Given the description of an element on the screen output the (x, y) to click on. 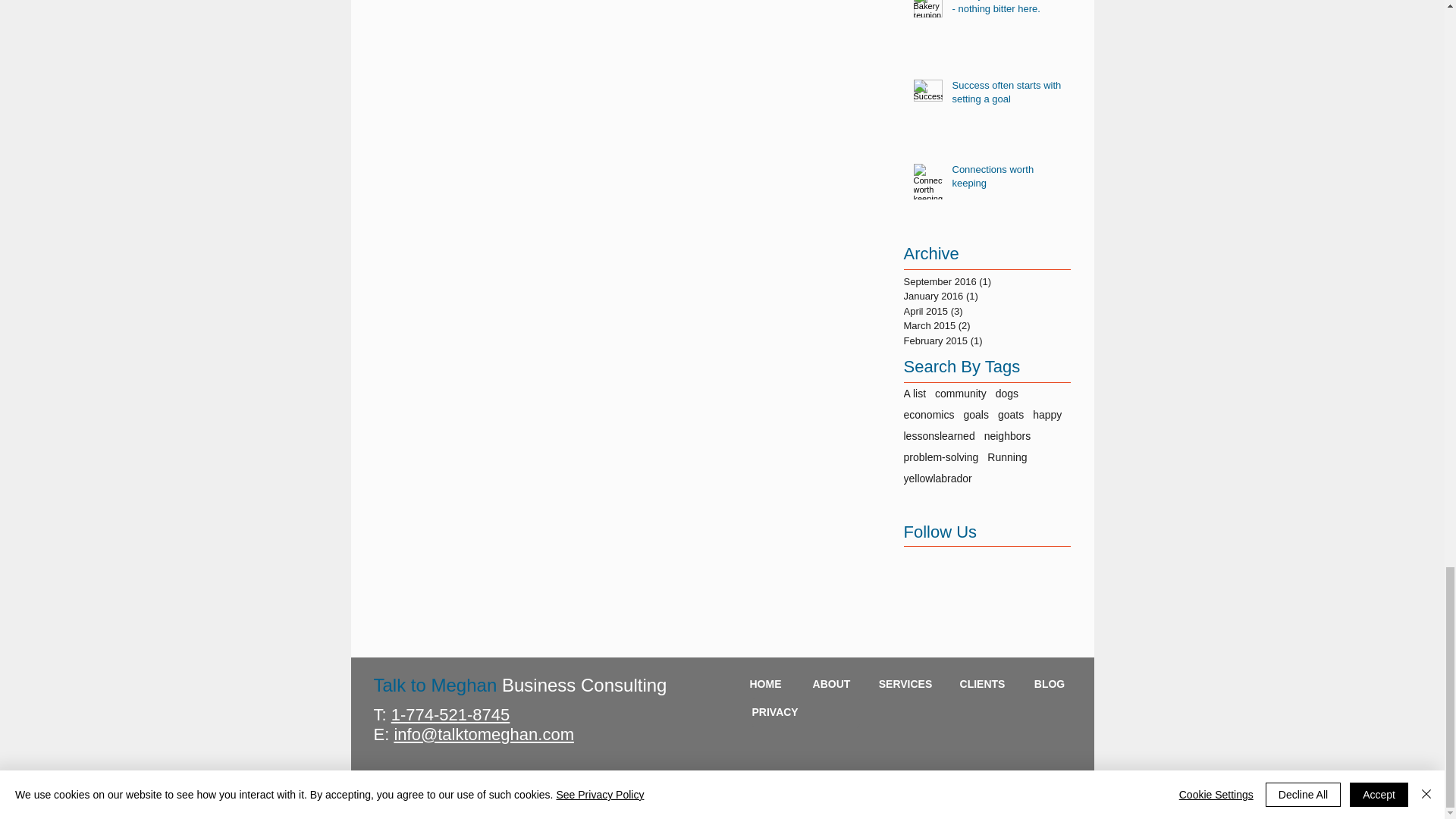
Connections worth keeping (1006, 179)
community (960, 393)
dogs (1006, 393)
Bakery reunion is sweet - nothing bitter here. (1006, 11)
goats (1010, 414)
Success often starts with setting a goal (1006, 95)
A list (915, 393)
goals (975, 414)
happy (1046, 414)
economics (929, 414)
